Given the description of an element on the screen output the (x, y) to click on. 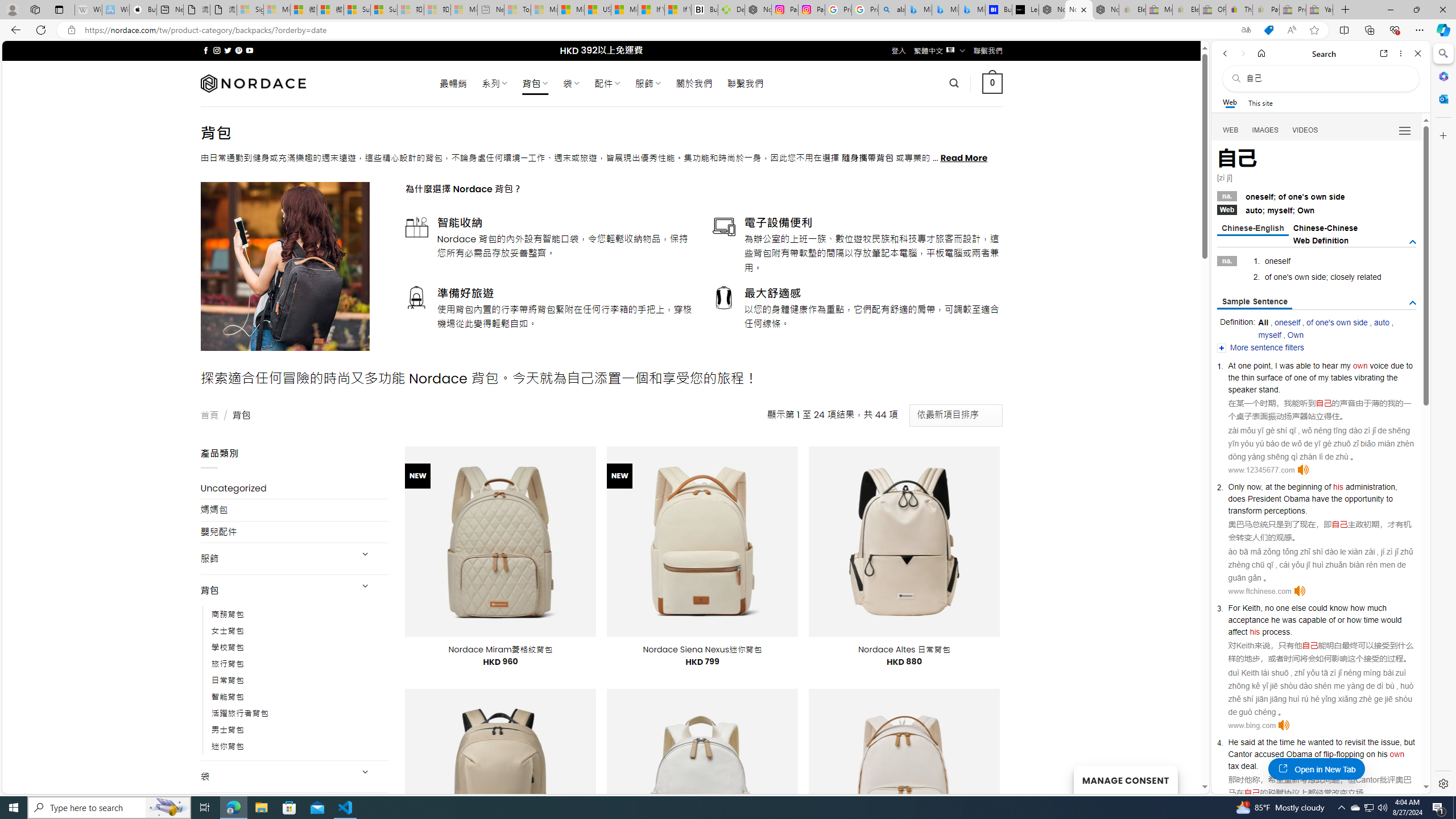
speaker (1241, 388)
deal (1248, 765)
Microsoft Bing Travel - Flights from Hong Kong to Bangkok (917, 9)
For (1233, 607)
stand (1267, 388)
